Given the description of an element on the screen output the (x, y) to click on. 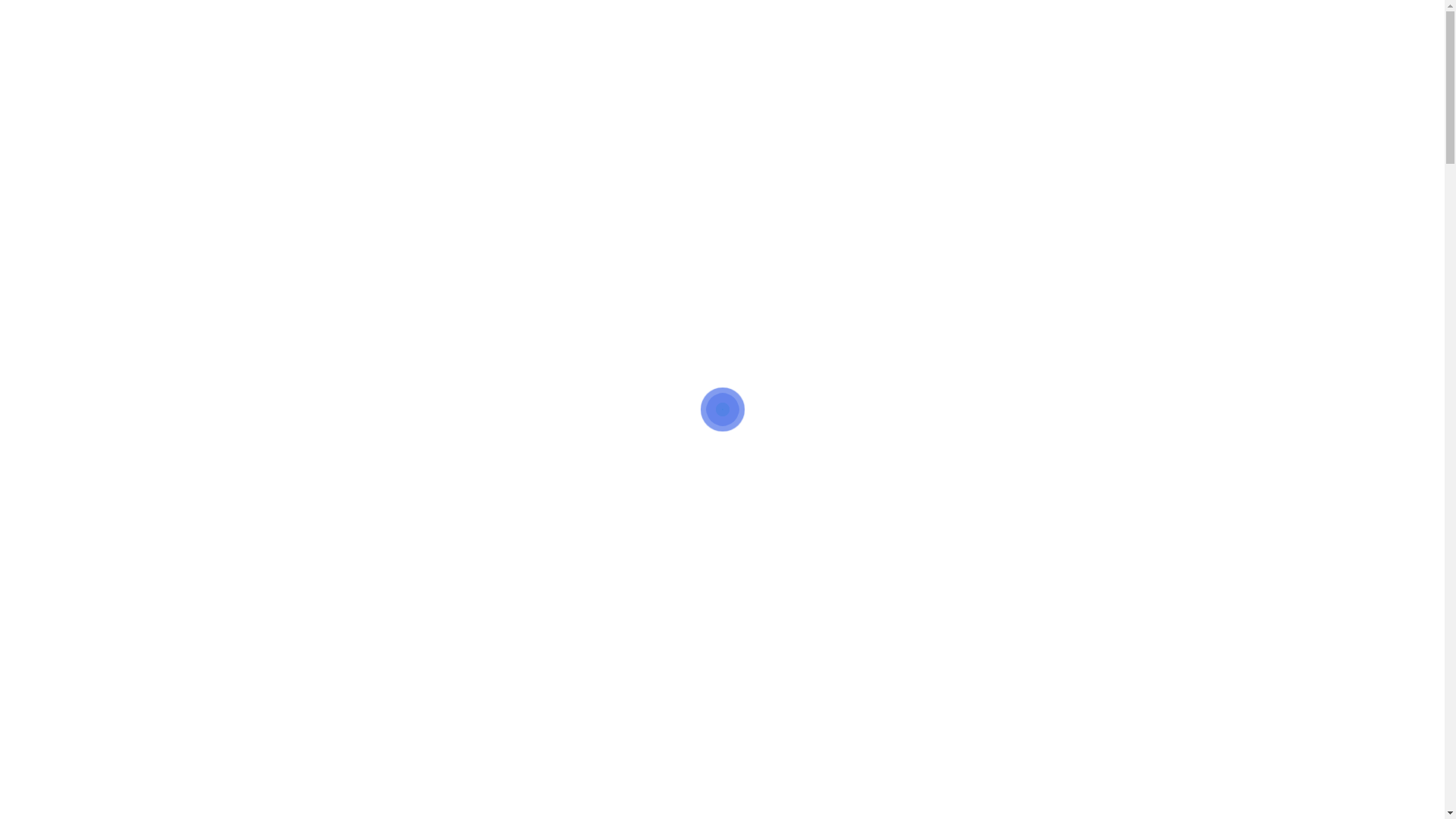
Contact Element type: text (903, 72)
Bezoek aqqo.com Element type: text (833, 21)
online betaalmethode Element type: text (506, 625)
Koppelingen Element type: text (756, 72)
Prijzen Element type: text (837, 72)
Gratis Demo Element type: text (1360, 72)
Functionaliteiten Element type: text (641, 72)
webshop module Element type: text (474, 658)
Home Element type: text (544, 72)
